Given the description of an element on the screen output the (x, y) to click on. 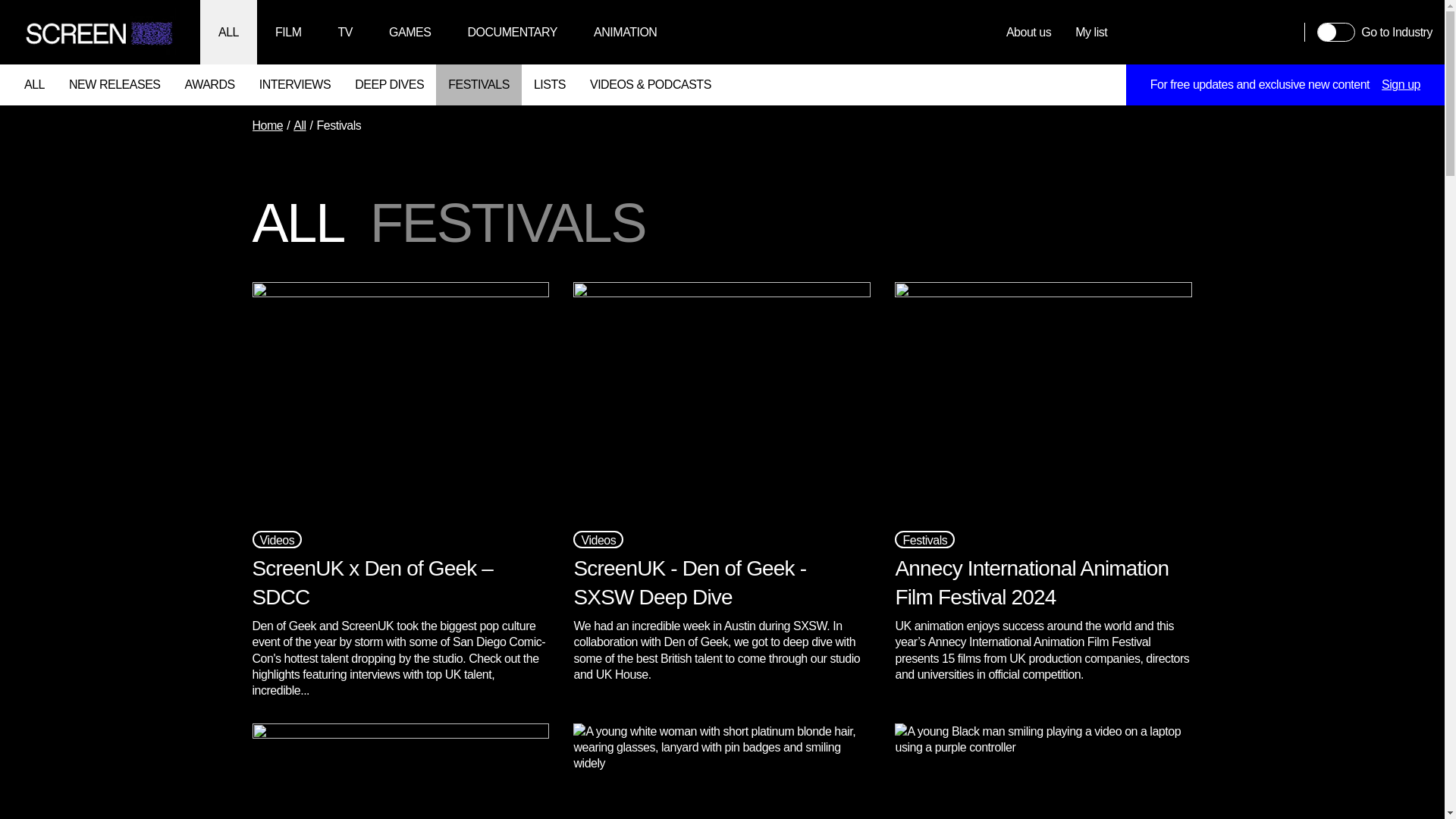
Videos (598, 538)
Twitter (1175, 32)
My list (1090, 32)
FESTIVALS (478, 84)
ScreenUK - Den of Geek - SXSW Deep Dive (689, 582)
Annecy International Animation Film Festival 2024 (1032, 582)
ANIMATION (625, 32)
ALL (33, 84)
Festivals (925, 538)
FILM (288, 32)
